Given the description of an element on the screen output the (x, y) to click on. 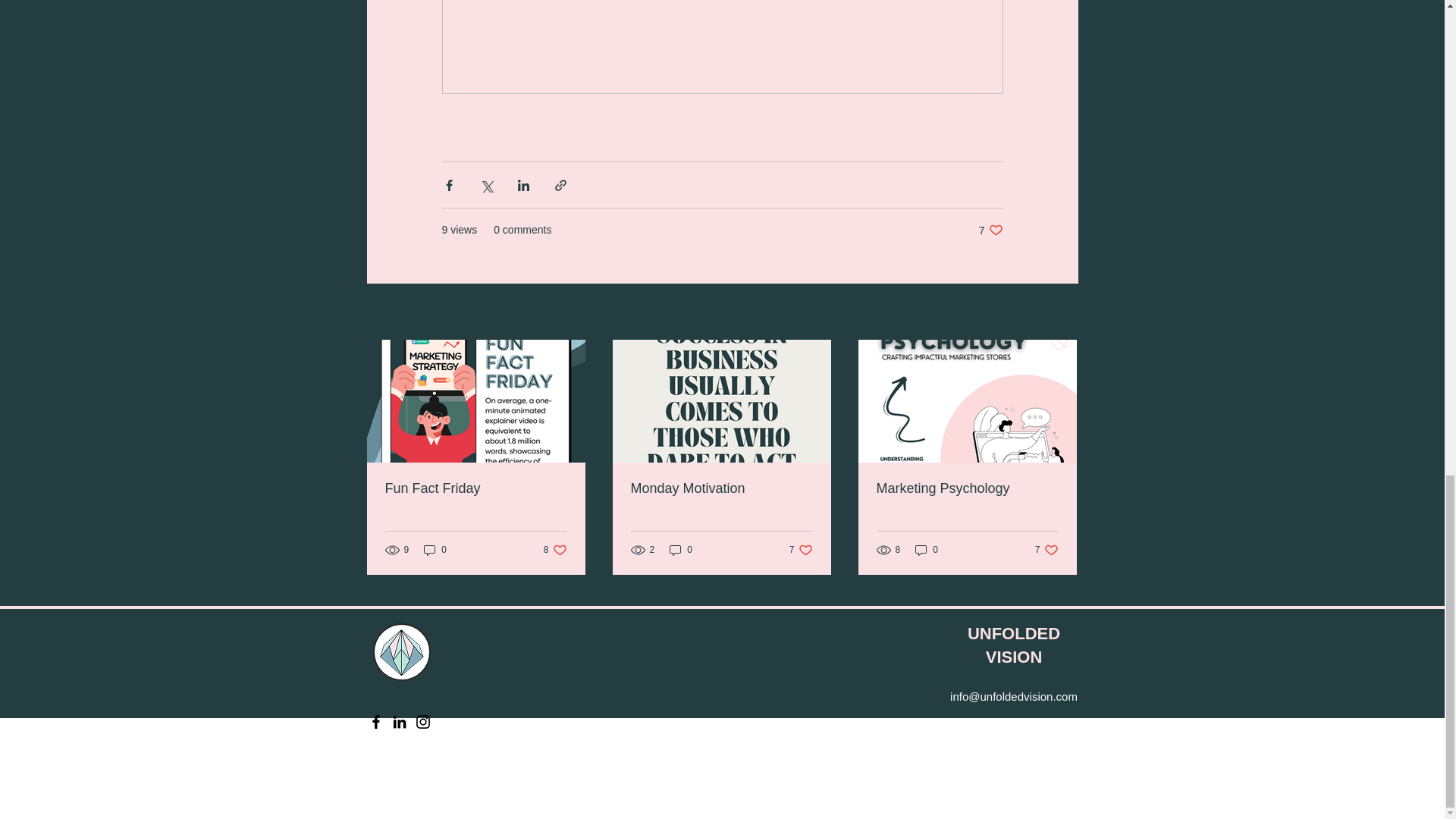
UNFOLDED VISION (1013, 645)
See All (1061, 312)
Privacy Policy  (555, 549)
Marketing Psychology (1046, 549)
0 (1045, 722)
0 (967, 488)
